Given the description of an element on the screen output the (x, y) to click on. 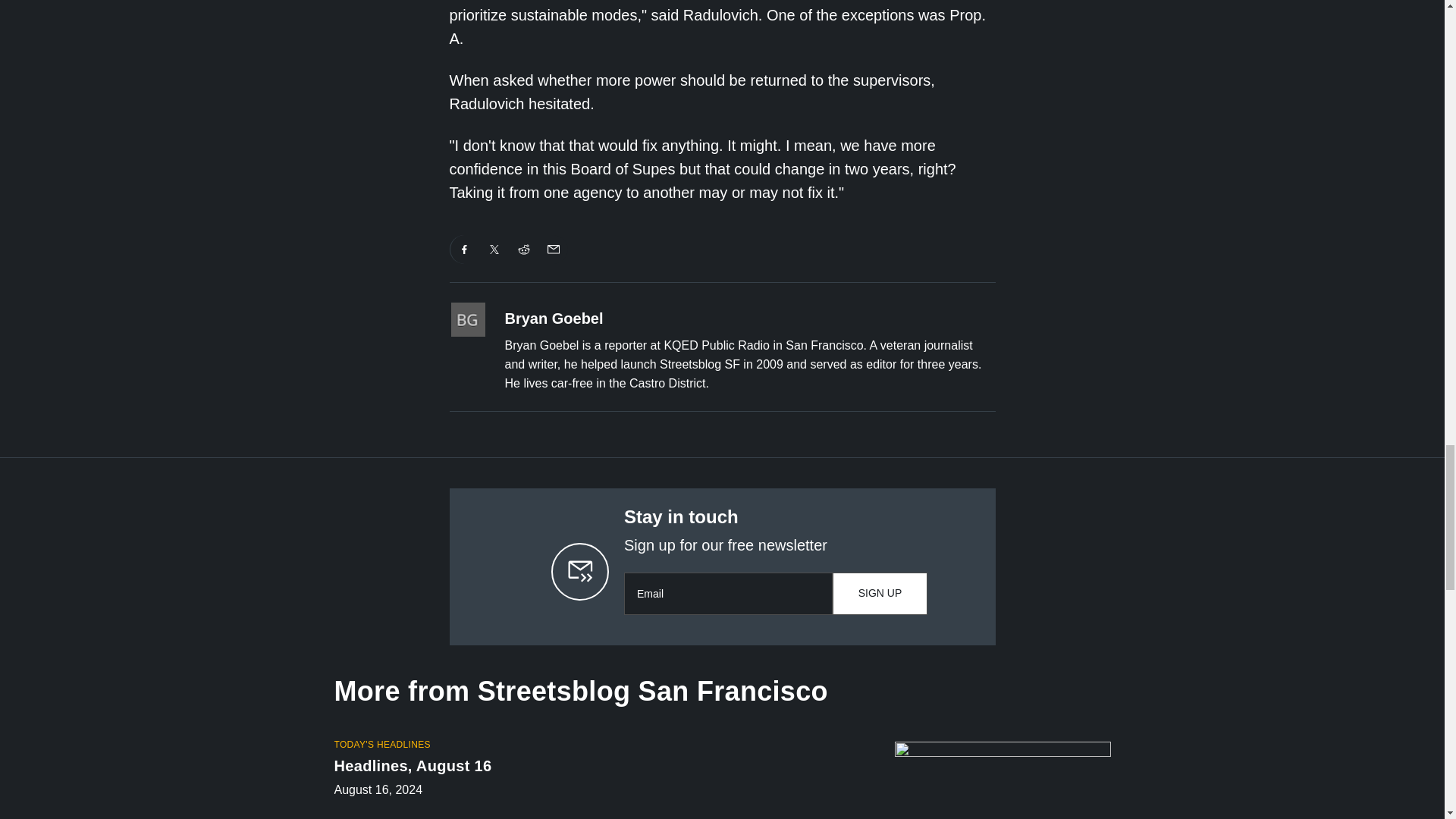
Bryan Goebel (554, 318)
Share on Facebook (464, 249)
Share on Reddit (523, 249)
Share on Email (552, 249)
SIGN UP (879, 593)
